Given the description of an element on the screen output the (x, y) to click on. 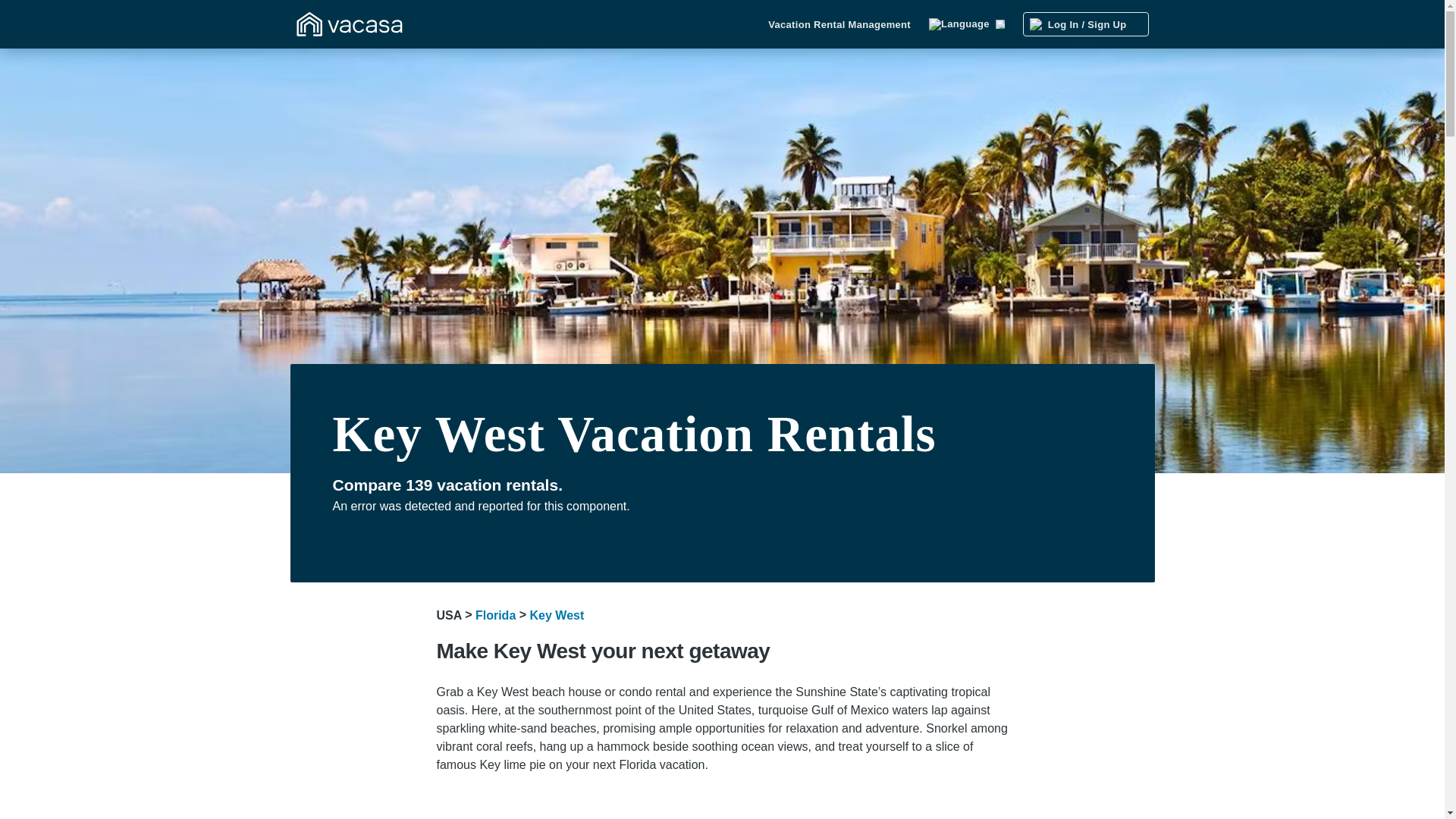
Key West (557, 615)
Vacation Rental Management (839, 24)
Florida (495, 615)
